Given the description of an element on the screen output the (x, y) to click on. 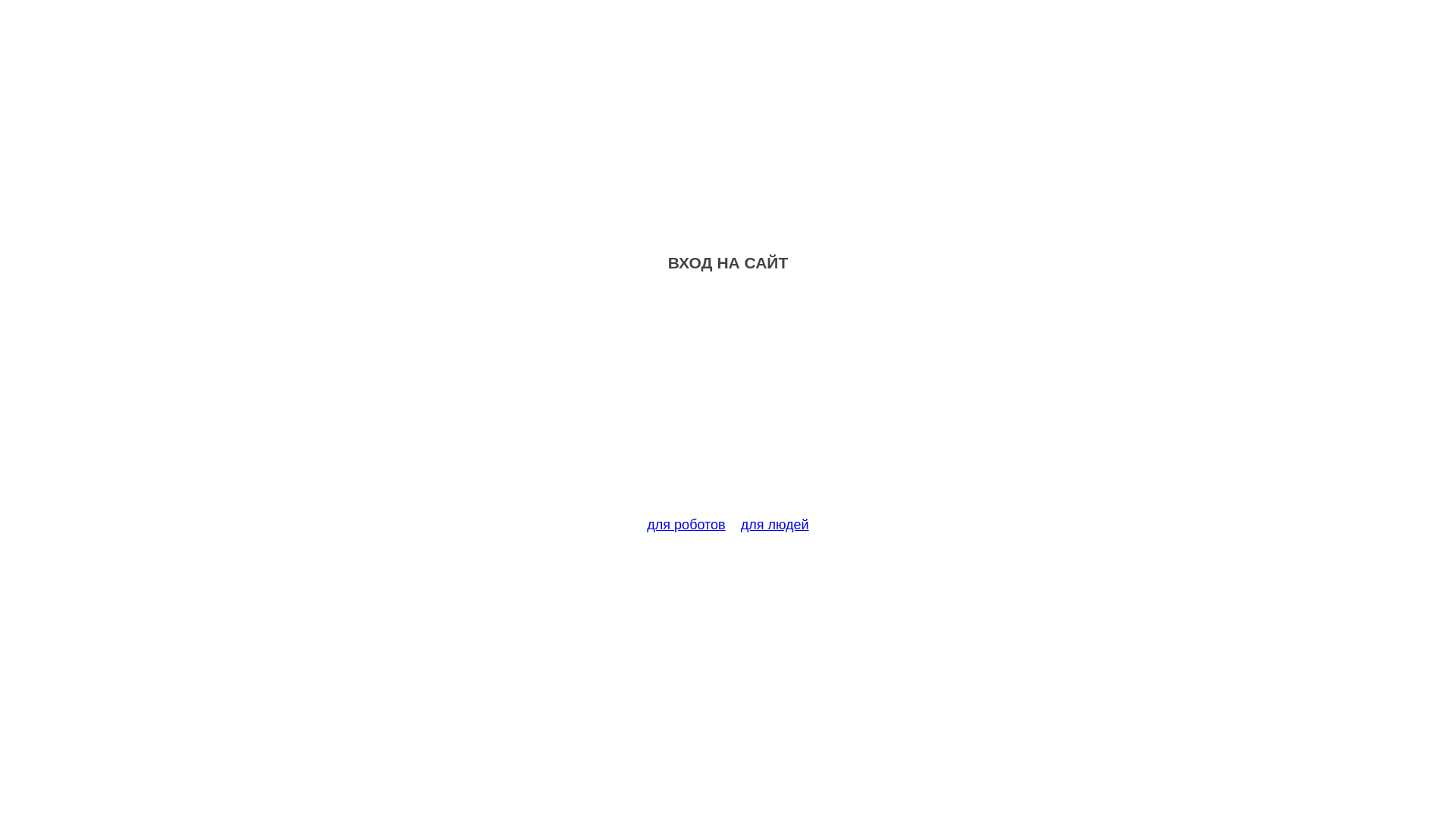
Advertisement Element type: hover (727, 403)
